Given the description of an element on the screen output the (x, y) to click on. 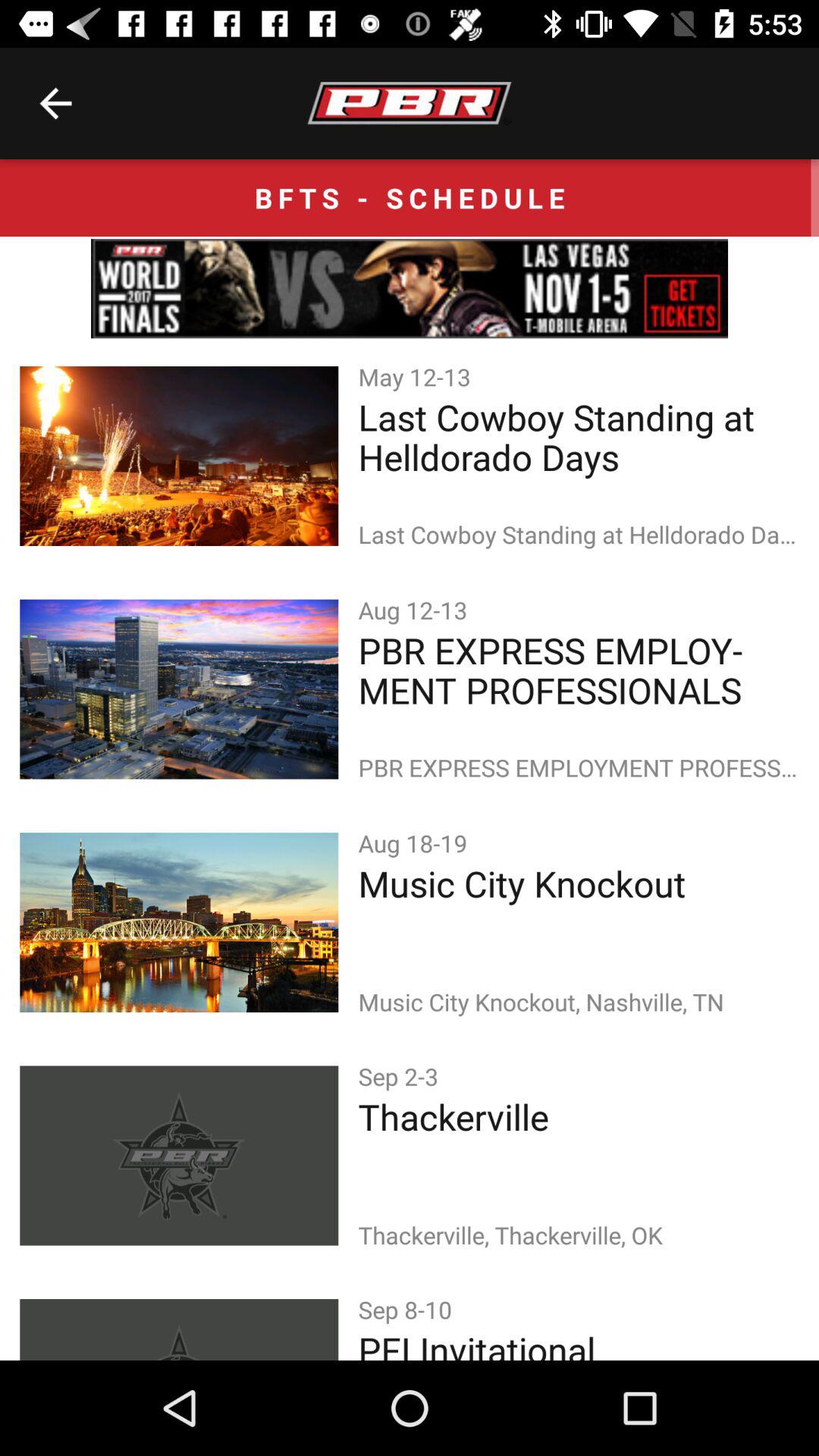
select the icon above the thackerville item (401, 1076)
